Given the description of an element on the screen output the (x, y) to click on. 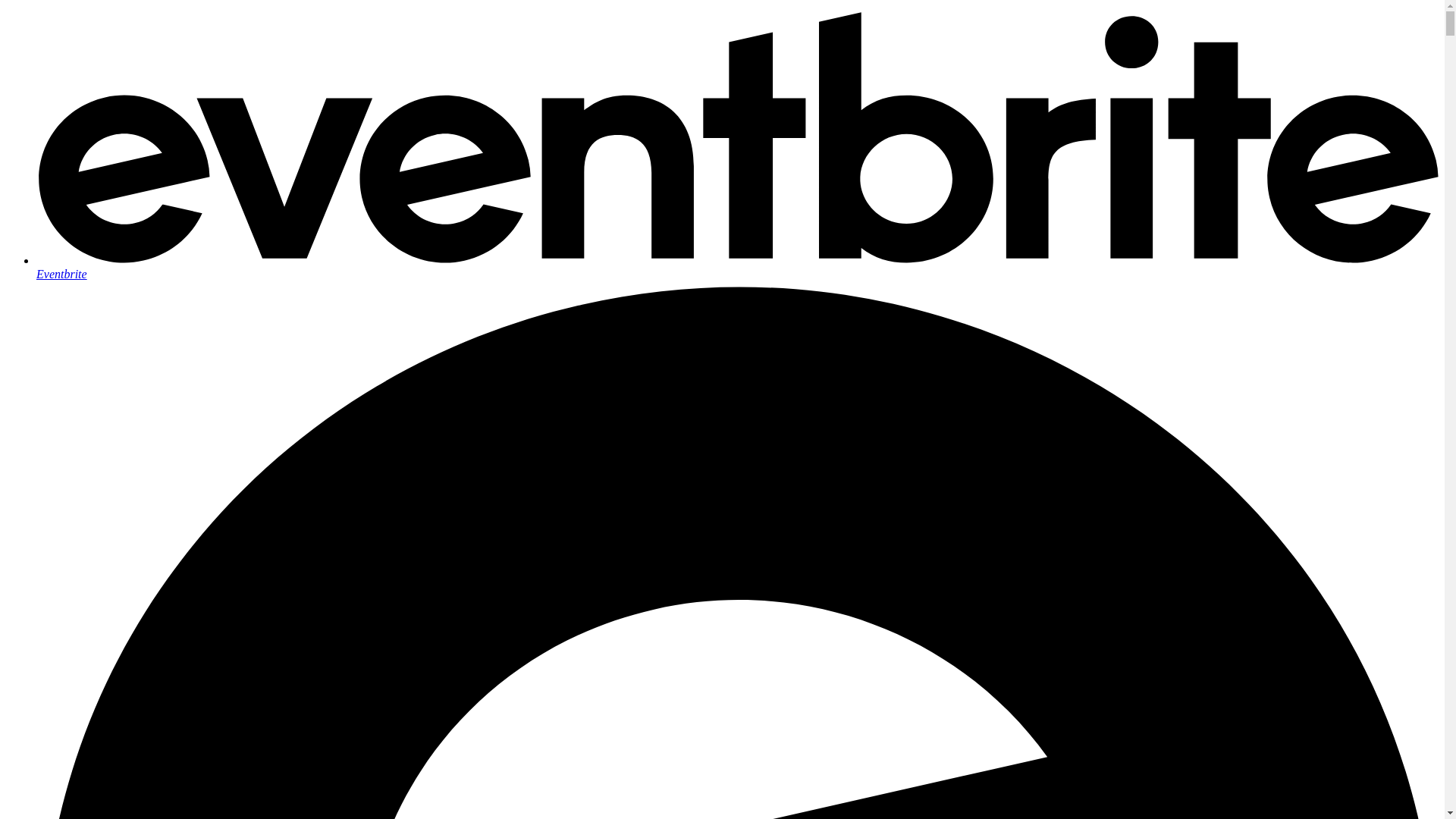
Eventbrite Element type: text (737, 267)
